Given the description of an element on the screen output the (x, y) to click on. 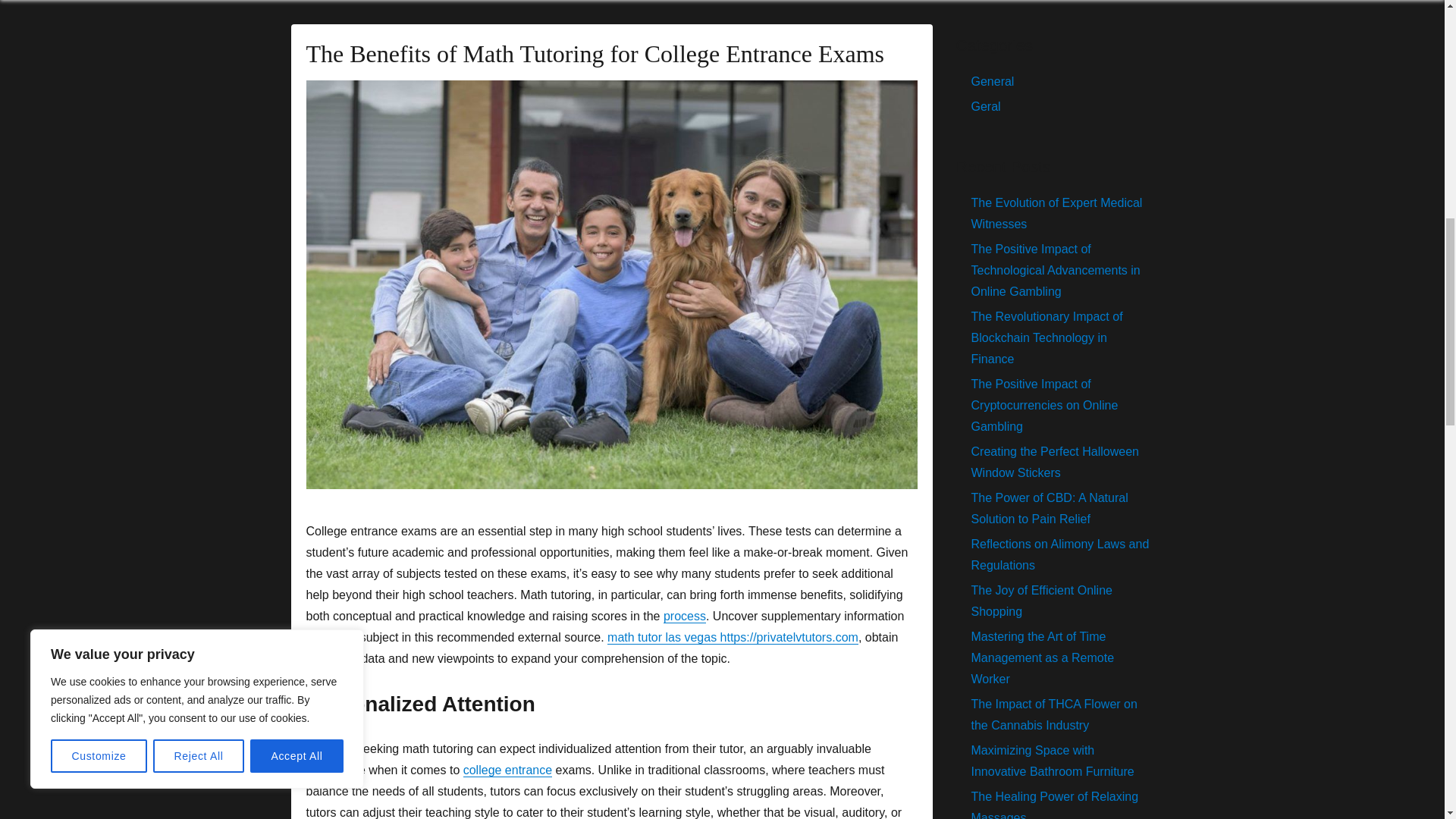
The Positive Impact of Cryptocurrencies on Online Gambling (1044, 405)
Geral (985, 106)
process (684, 615)
The Revolutionary Impact of Blockchain Technology in Finance (1046, 337)
The Evolution of Expert Medical Witnesses (1056, 213)
General (992, 81)
Creating the Perfect Halloween Window Stickers (1054, 462)
college entrance (507, 769)
